Given the description of an element on the screen output the (x, y) to click on. 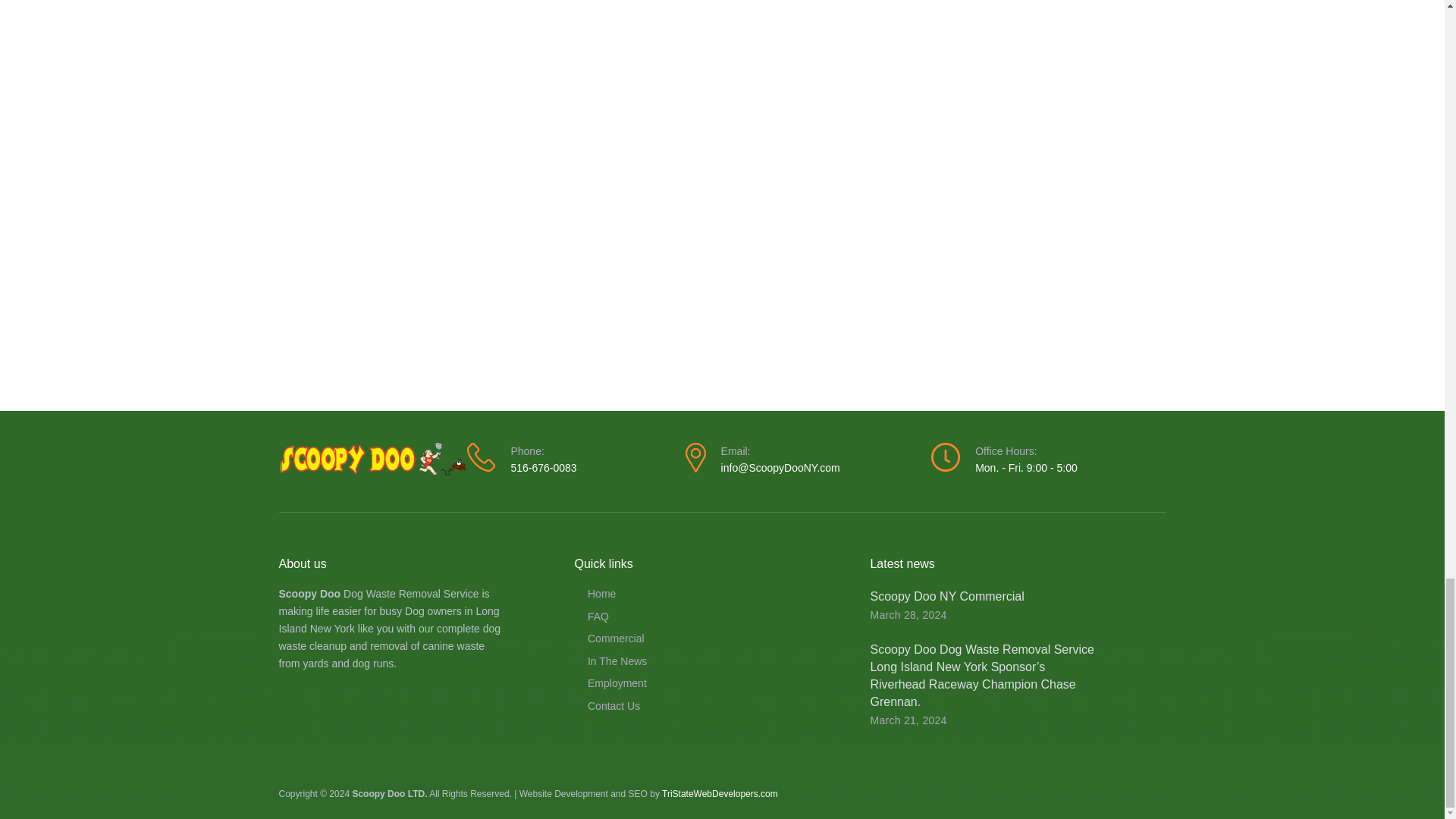
516-676-0083 (543, 467)
TriStateWebDevelopers.com (719, 793)
March 21, 2024 (907, 720)
Employment (719, 683)
Commercial (719, 638)
FAQ (719, 616)
Home (719, 593)
March 28, 2024 (907, 614)
Scoopy Doo NY Commercial (946, 595)
In The News (719, 661)
Contact Us (719, 706)
